Given the description of an element on the screen output the (x, y) to click on. 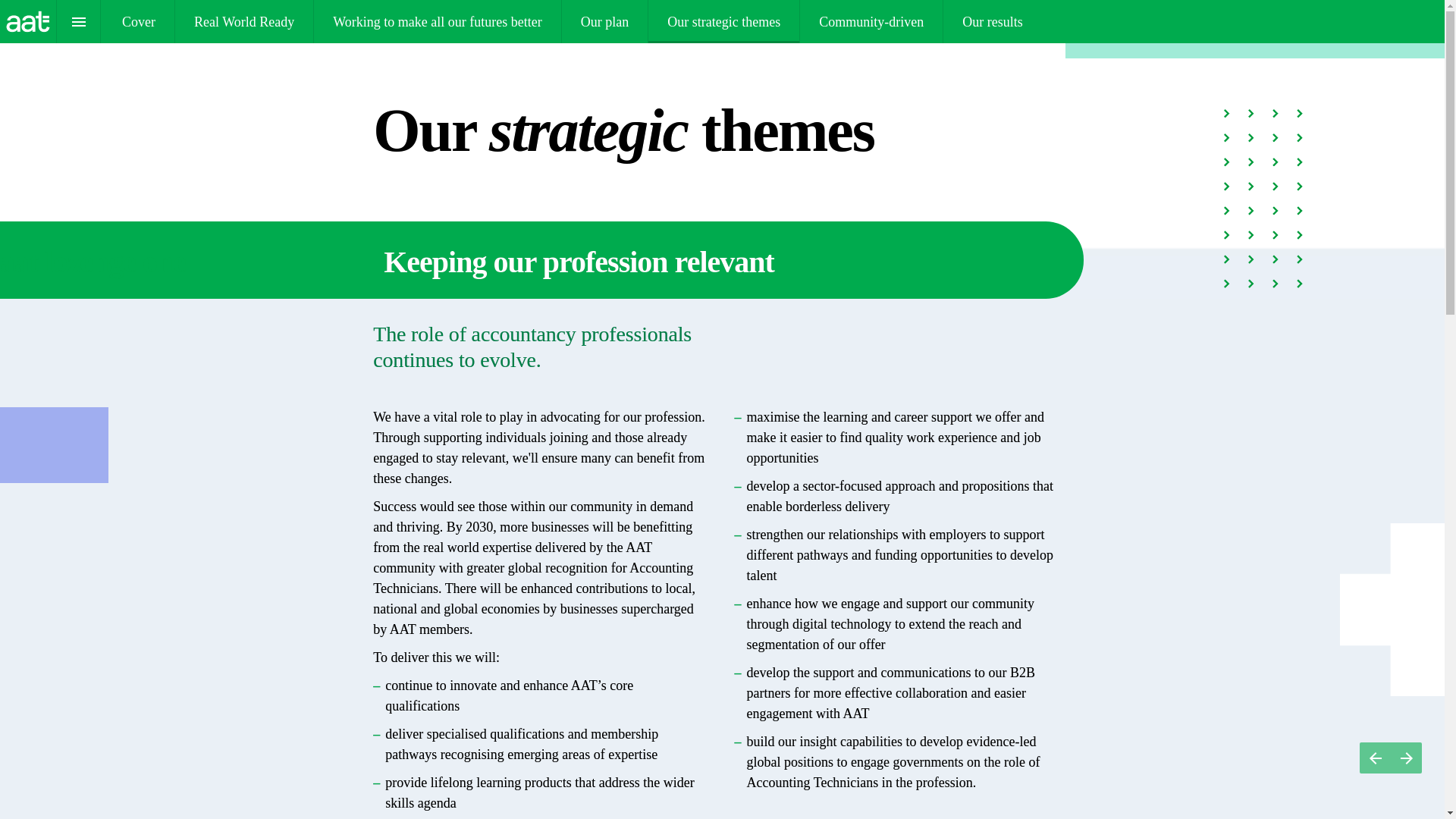
Our plan (604, 21)
Real World Ready (243, 21)
Our results (992, 21)
Community-driven (870, 21)
Cover (437, 21)
